Given the description of an element on the screen output the (x, y) to click on. 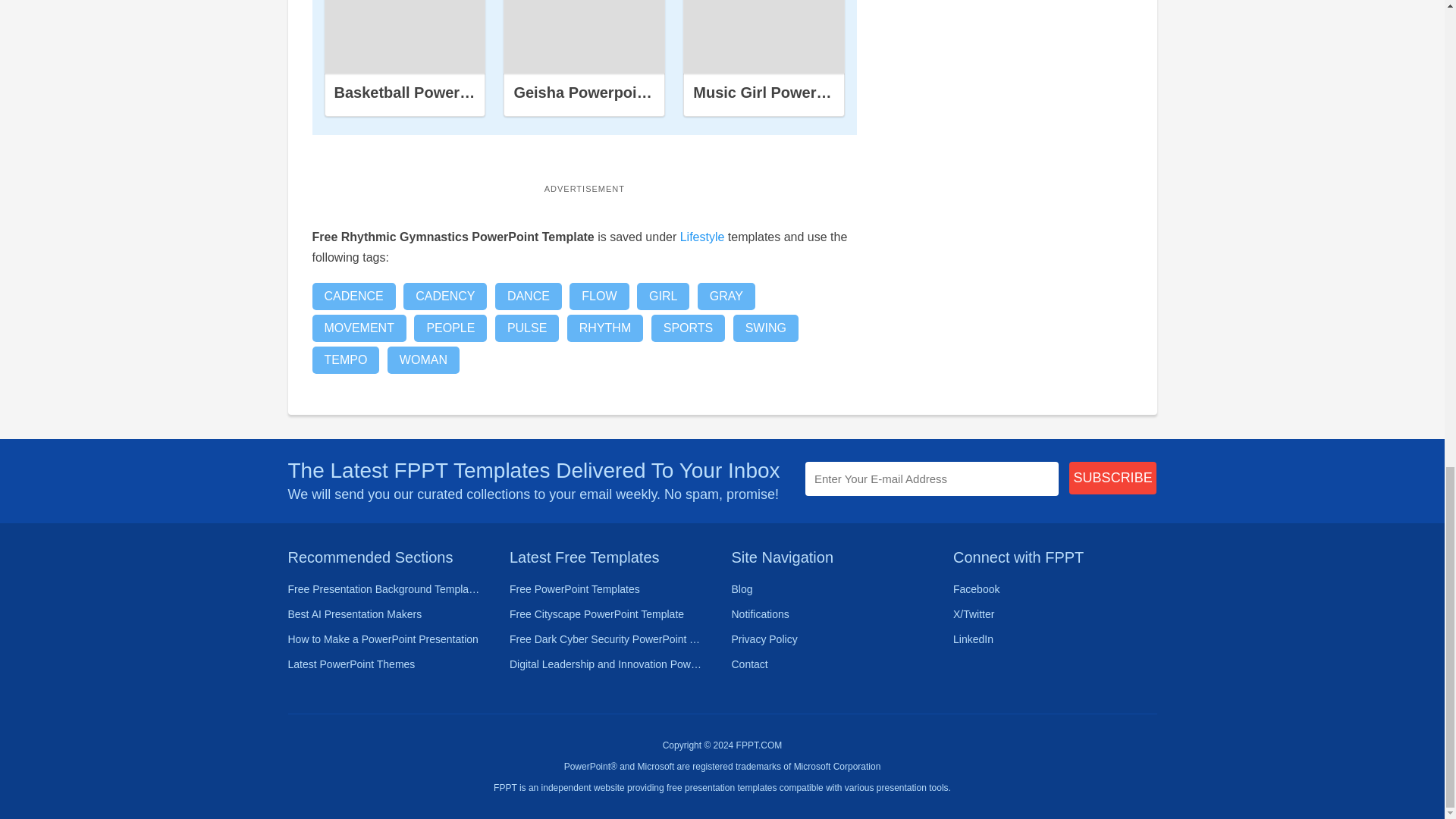
GIRL (662, 296)
CADENCY (444, 296)
PEOPLE (449, 328)
Basketball Powerpoint template (405, 37)
Subscribe (1112, 477)
PULSE (527, 328)
FLOW (598, 296)
Lifestyle (702, 236)
GRAY (726, 296)
Basketball Powerpoint Template (449, 92)
music girl powerpoint (764, 36)
CADENCE (354, 296)
TEMPO (346, 359)
Basketball powerpoint (404, 36)
Music Girl Powerpoint Template (808, 92)
